Given the description of an element on the screen output the (x, y) to click on. 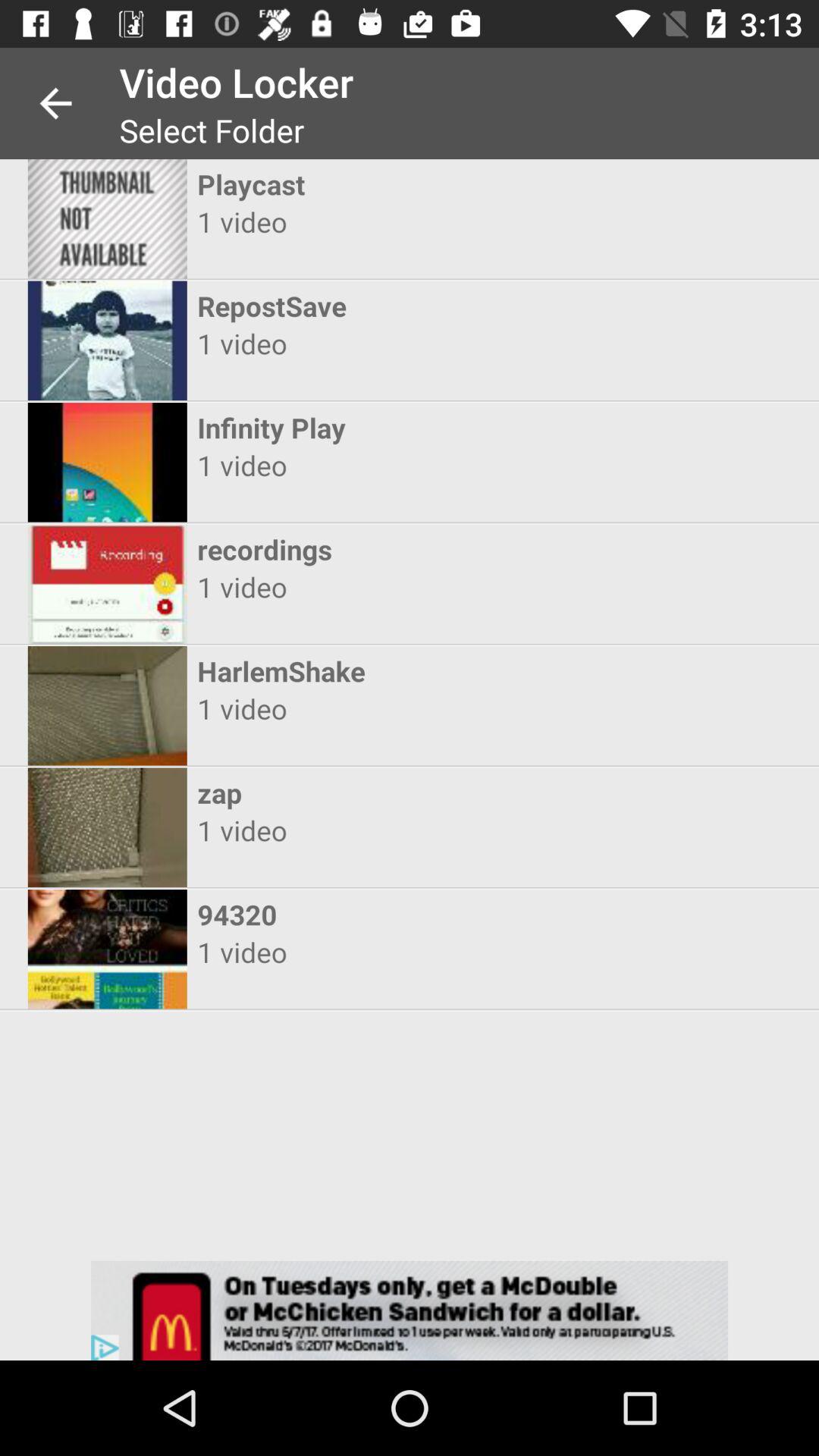
turn off the 94320 icon (396, 914)
